Given the description of an element on the screen output the (x, y) to click on. 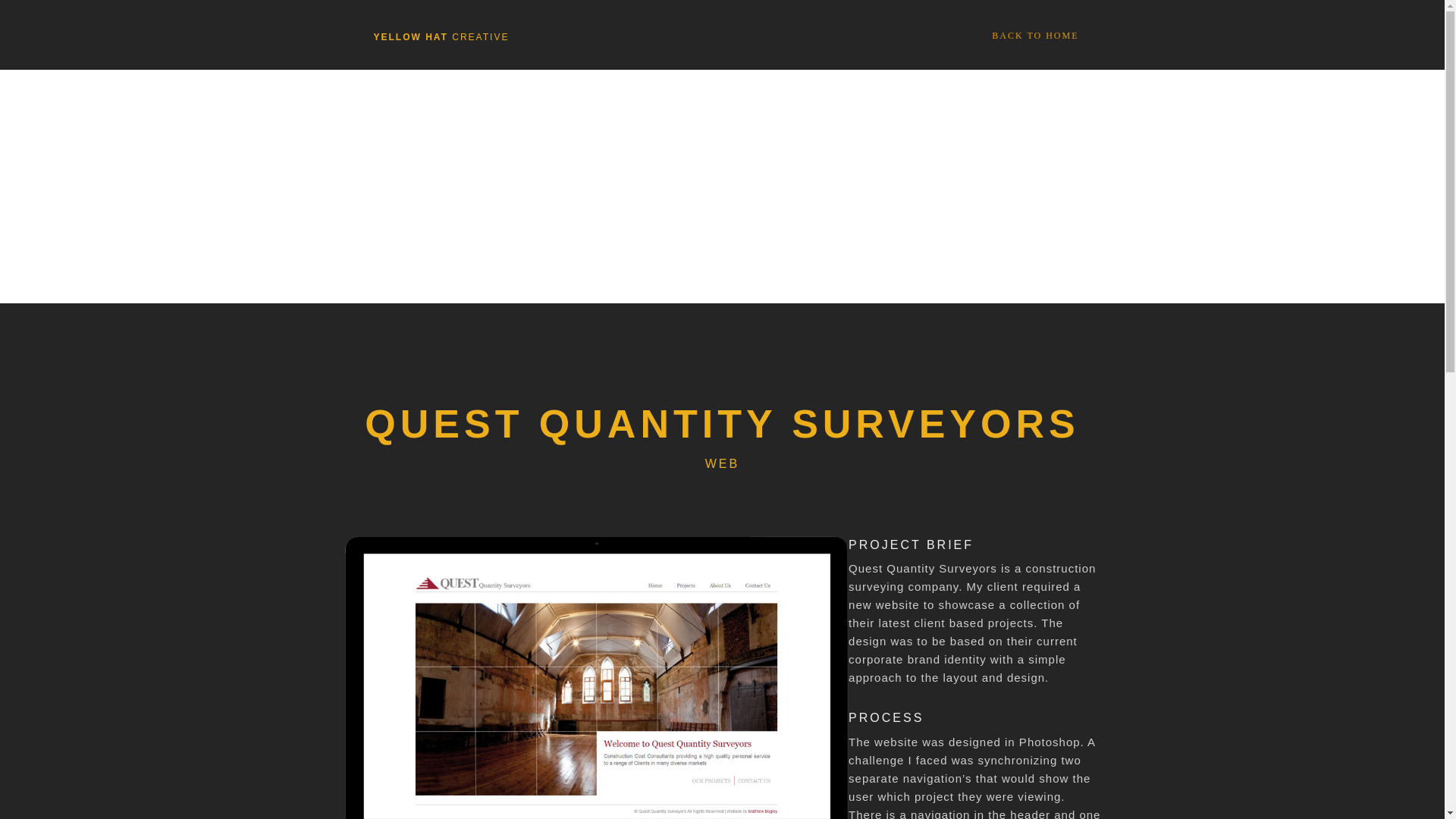
WEB (721, 463)
BACK TO HOME (1034, 34)
